Given the description of an element on the screen output the (x, y) to click on. 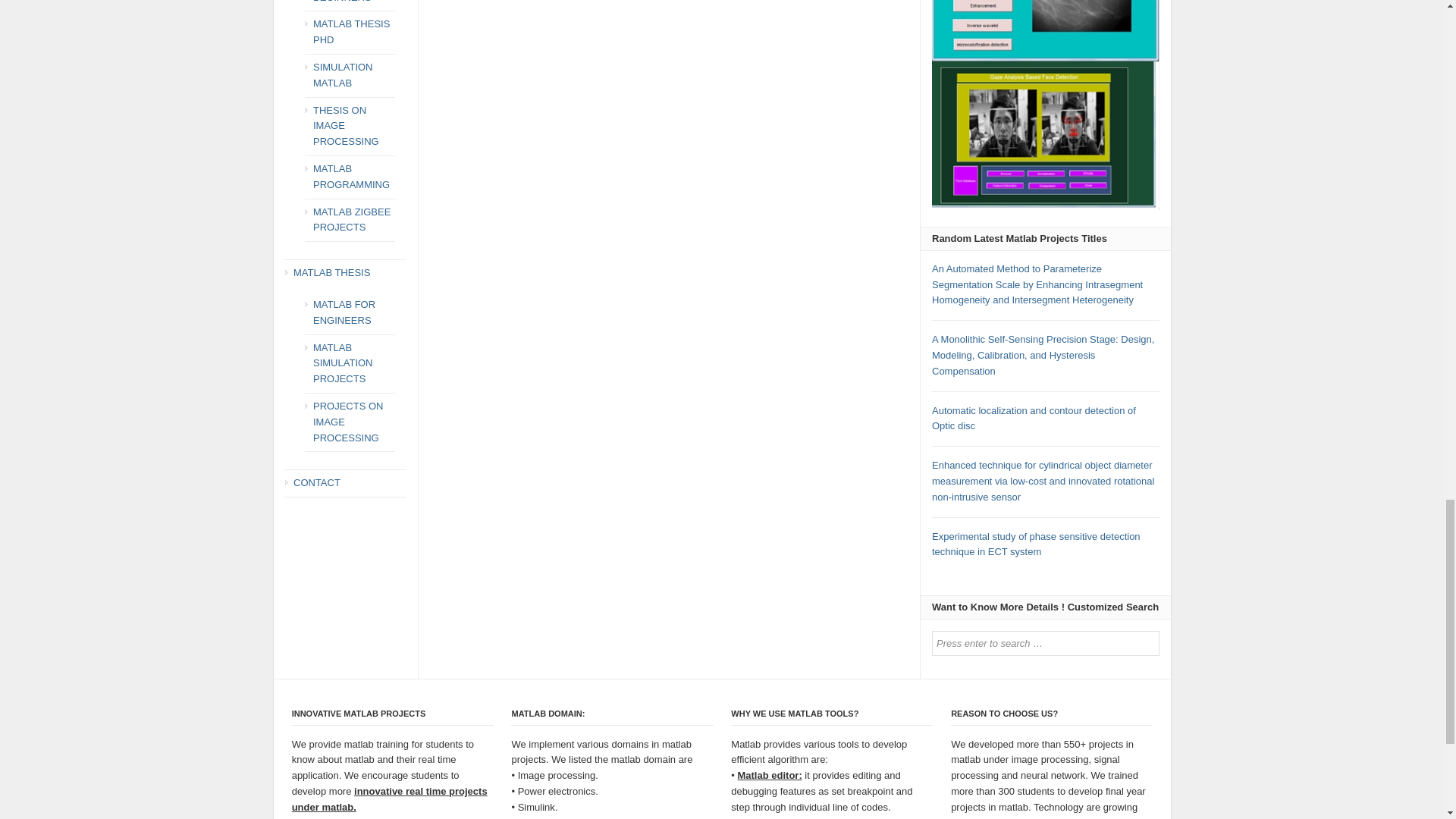
Search for: (1044, 643)
 Latest Matlab projects Screenshots (1044, 104)
